Given the description of an element on the screen output the (x, y) to click on. 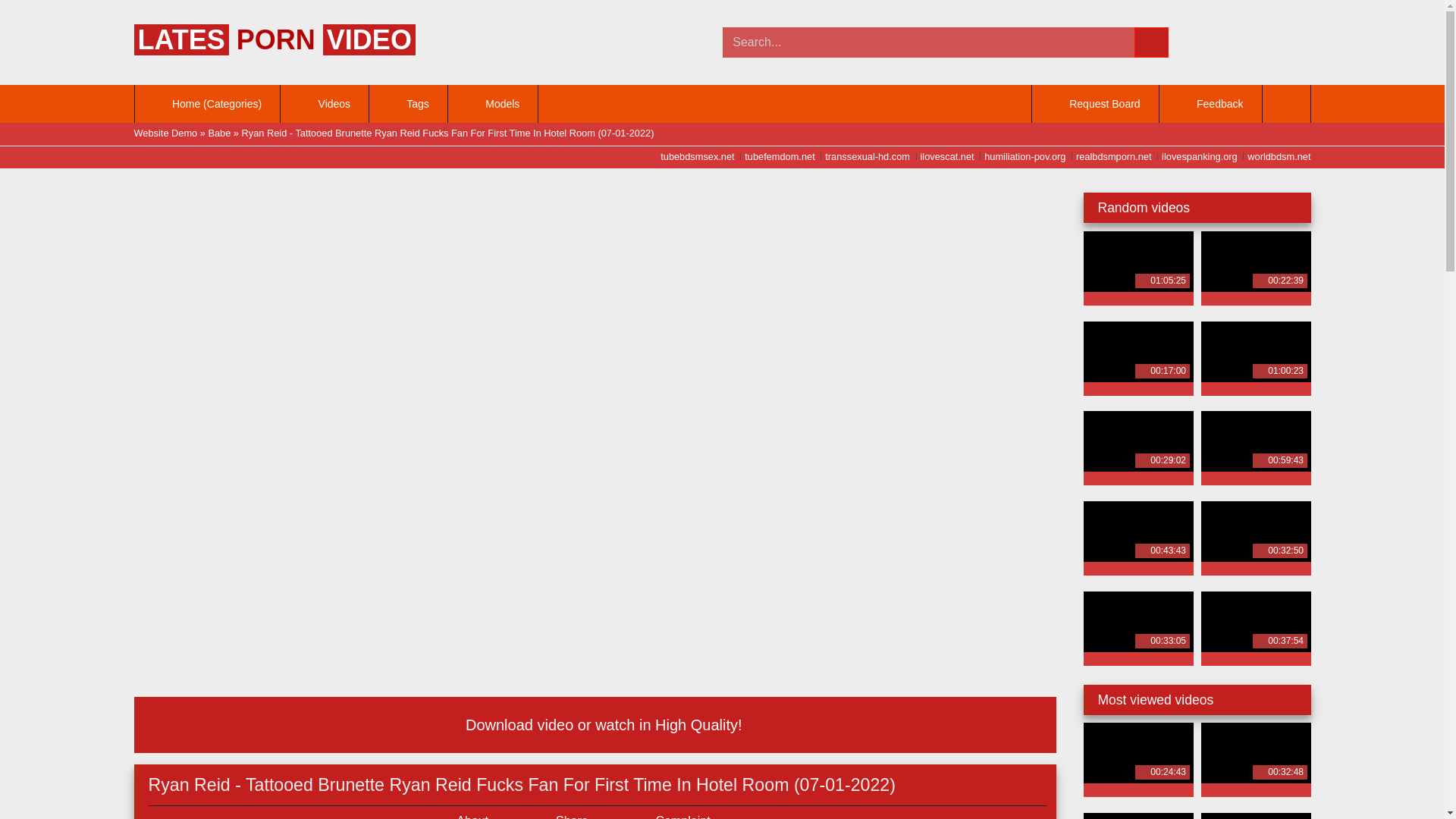
LATES PORN VIDEO (273, 39)
tubefemdom.net (774, 156)
realbdsmporn.net (1109, 156)
Download video or watch in High Quality! (594, 724)
Website Demo (164, 132)
Request Board (1095, 103)
Change site color (1285, 103)
Videos (324, 103)
ilovespanking.org (1195, 156)
Search... (928, 42)
